Given the description of an element on the screen output the (x, y) to click on. 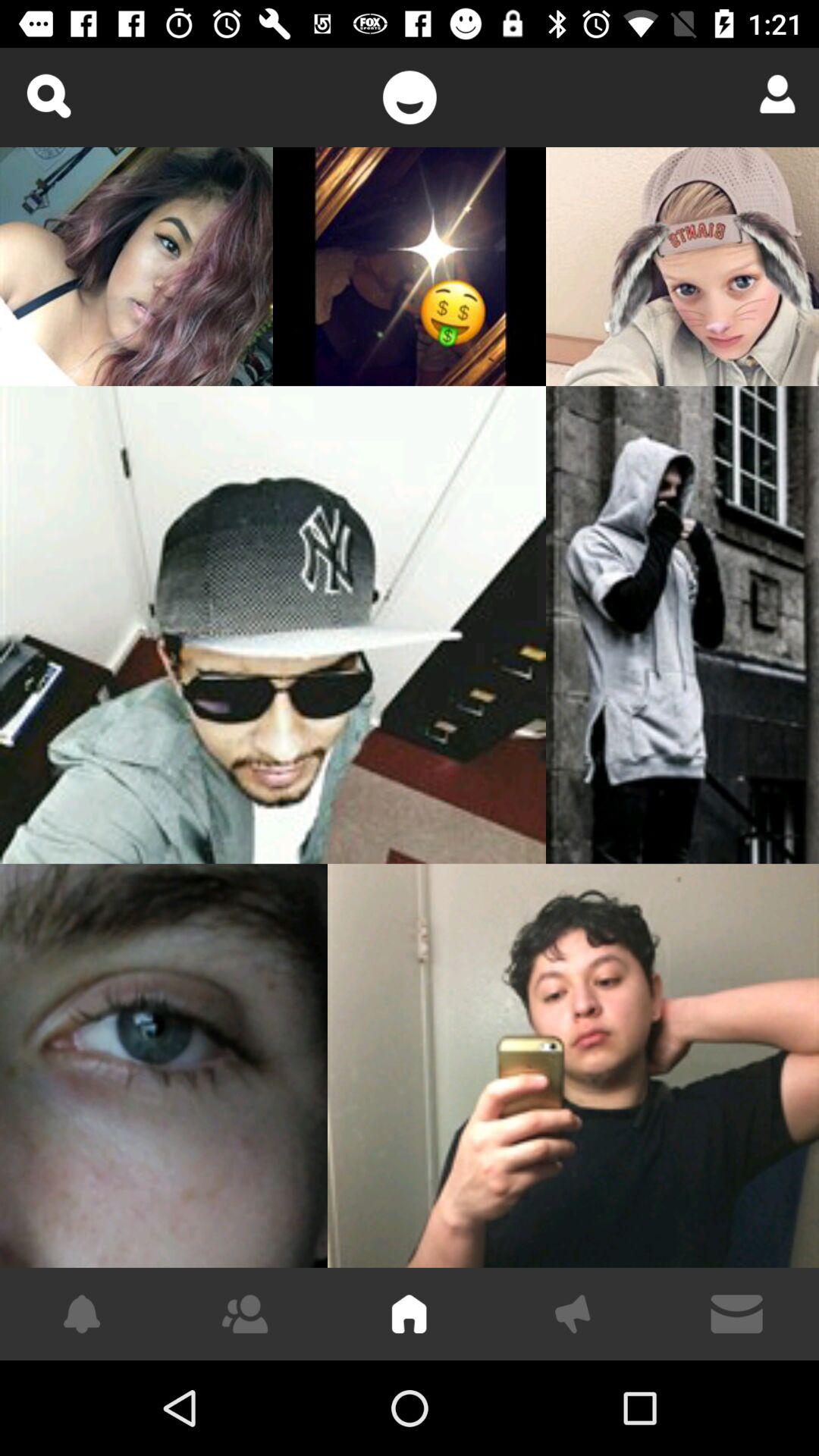
launch icon on the right (682, 624)
